Given the description of an element on the screen output the (x, y) to click on. 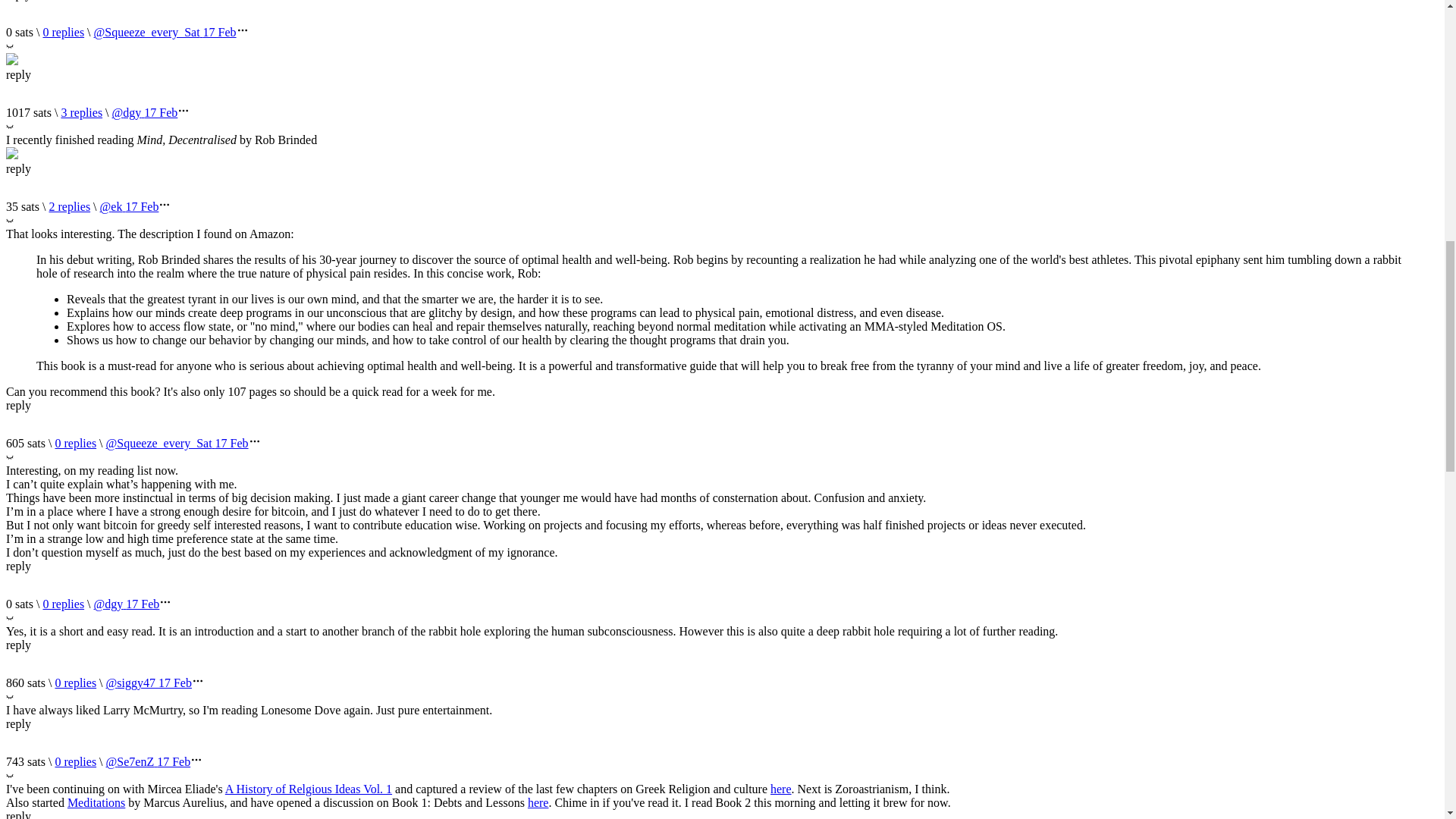
640 sats (81, 112)
17 Feb (160, 112)
0 sats (75, 442)
0 sats (63, 31)
0 sats (63, 603)
2 replies (69, 205)
3 replies (81, 112)
0 replies (63, 31)
605 sats (69, 205)
17 Feb (219, 31)
